Given the description of an element on the screen output the (x, y) to click on. 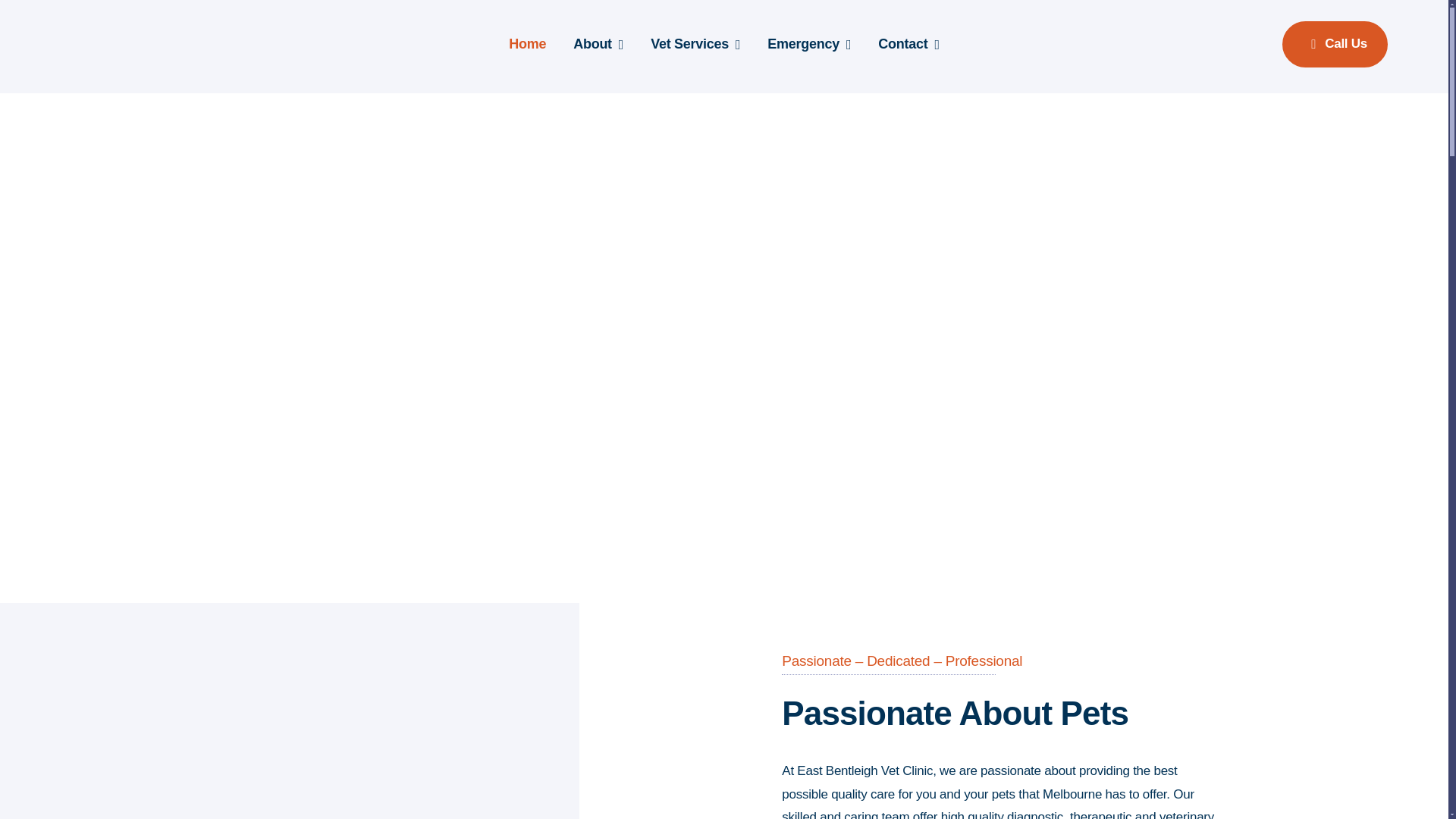
Home (527, 44)
Emergency (808, 44)
About (598, 44)
passionate-about-pets-east-bentleigh-vet (464, 746)
Vet Services (694, 44)
Contact (908, 44)
Call Us (1334, 43)
